Given the description of an element on the screen output the (x, y) to click on. 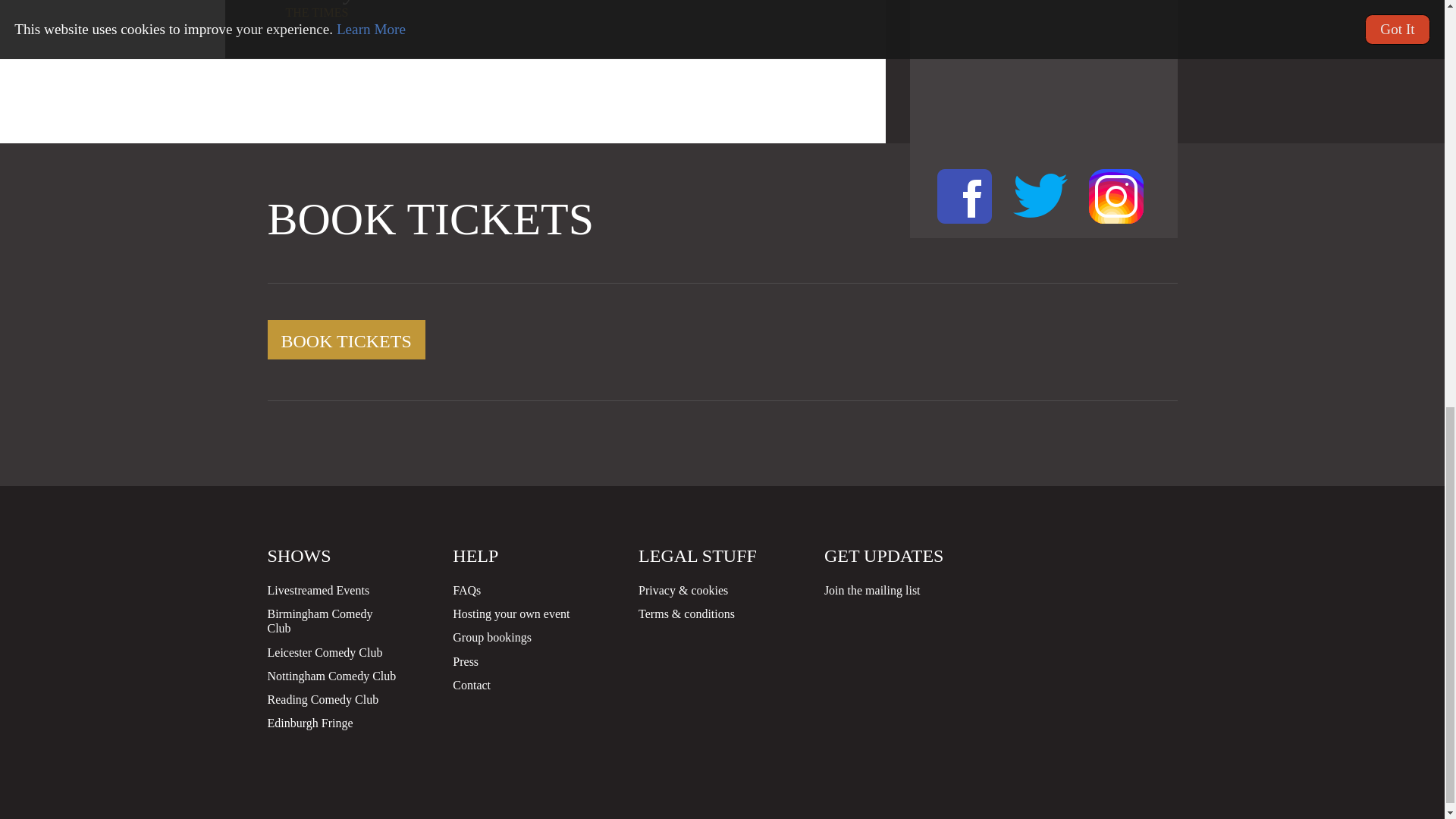
Edinburgh Fringe (309, 722)
Press (465, 661)
Livestreamed Events (317, 590)
Leicester Comedy Club (323, 652)
FAQs (466, 590)
Reading Comedy Club (322, 698)
Nottingham Comedy Club (331, 675)
Birmingham Comedy Club (319, 620)
Group bookings (491, 636)
BOOK TICKETS (345, 339)
Hosting your own event (510, 613)
